Given the description of an element on the screen output the (x, y) to click on. 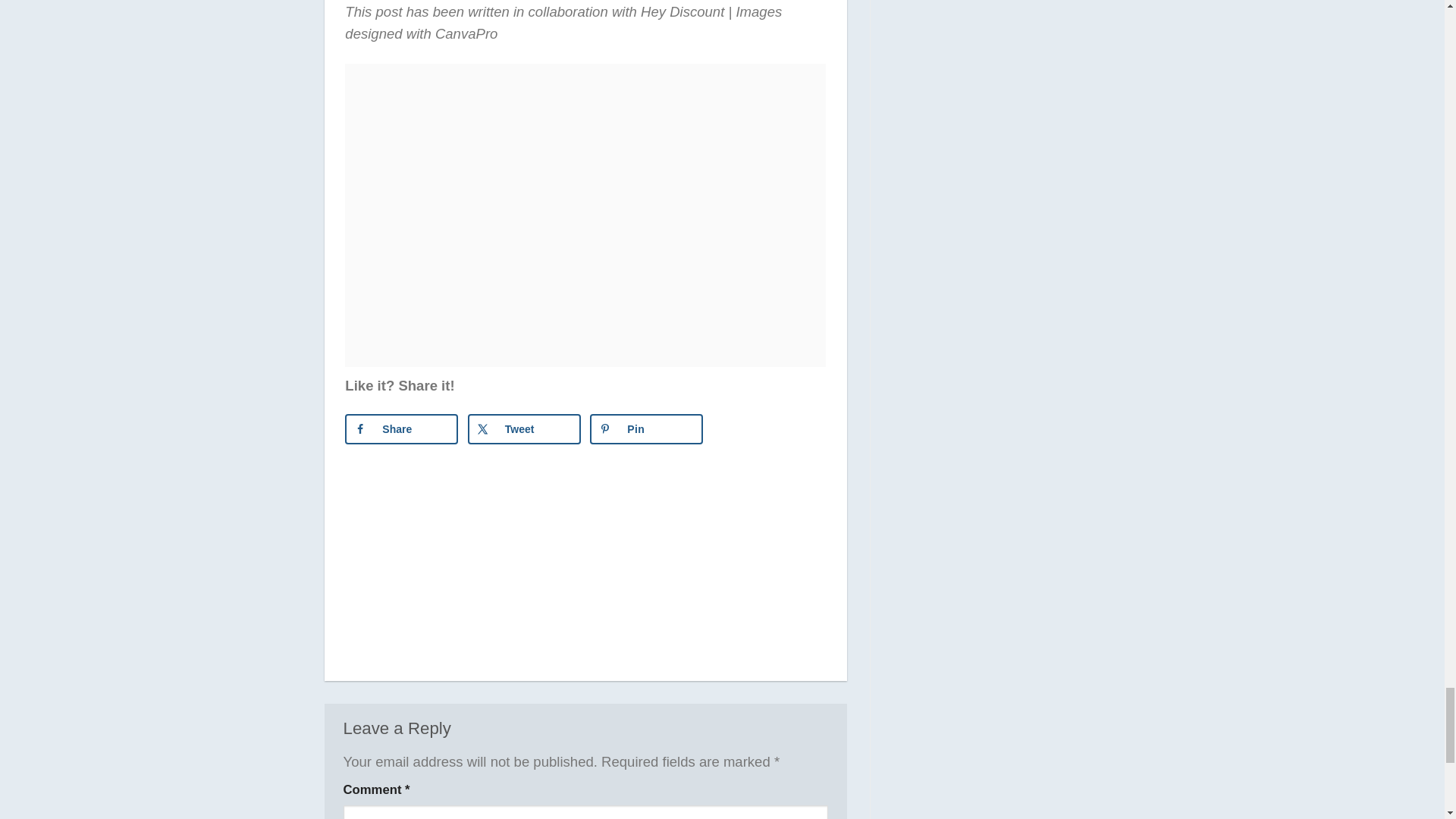
Share on Facebook (401, 429)
